Given the description of an element on the screen output the (x, y) to click on. 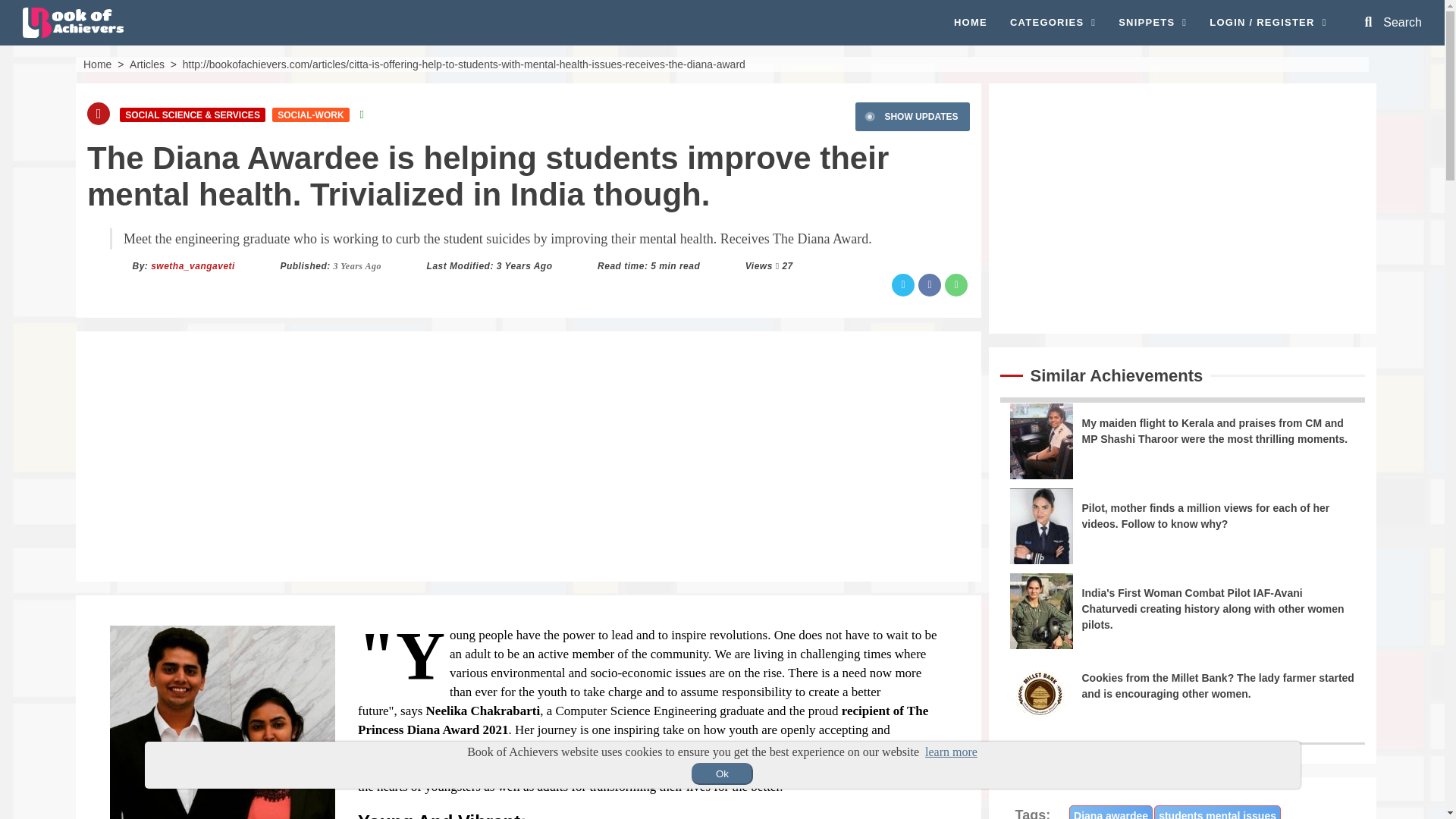
Share on Facebook (929, 284)
Share on Twitter (902, 284)
neelika chakrabarti (222, 721)
Share on Whatsapp (956, 284)
CATEGORIES   (1053, 22)
Articles (146, 63)
SNIPPETS   (1152, 22)
Home (97, 63)
SOCIAL-WORK (310, 114)
Article Views: 27 (786, 266)
Advertisement (1181, 207)
Search (1393, 22)
